Given the description of an element on the screen output the (x, y) to click on. 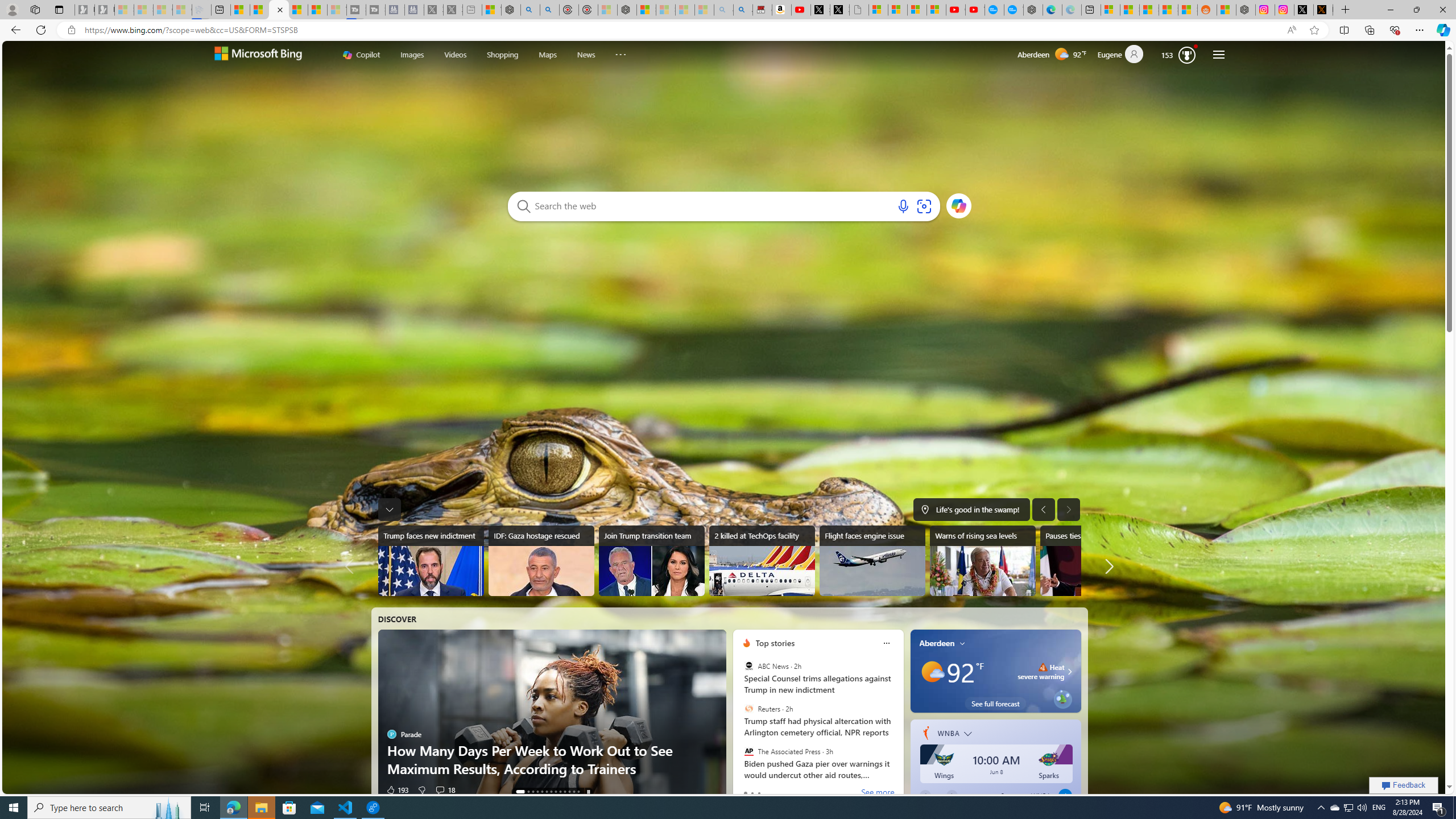
ABC News (749, 665)
help.x.com | 524: A timeout occurred (1323, 9)
Join Trump transition team (651, 560)
Microsoft Start (316, 9)
